Given the description of an element on the screen output the (x, y) to click on. 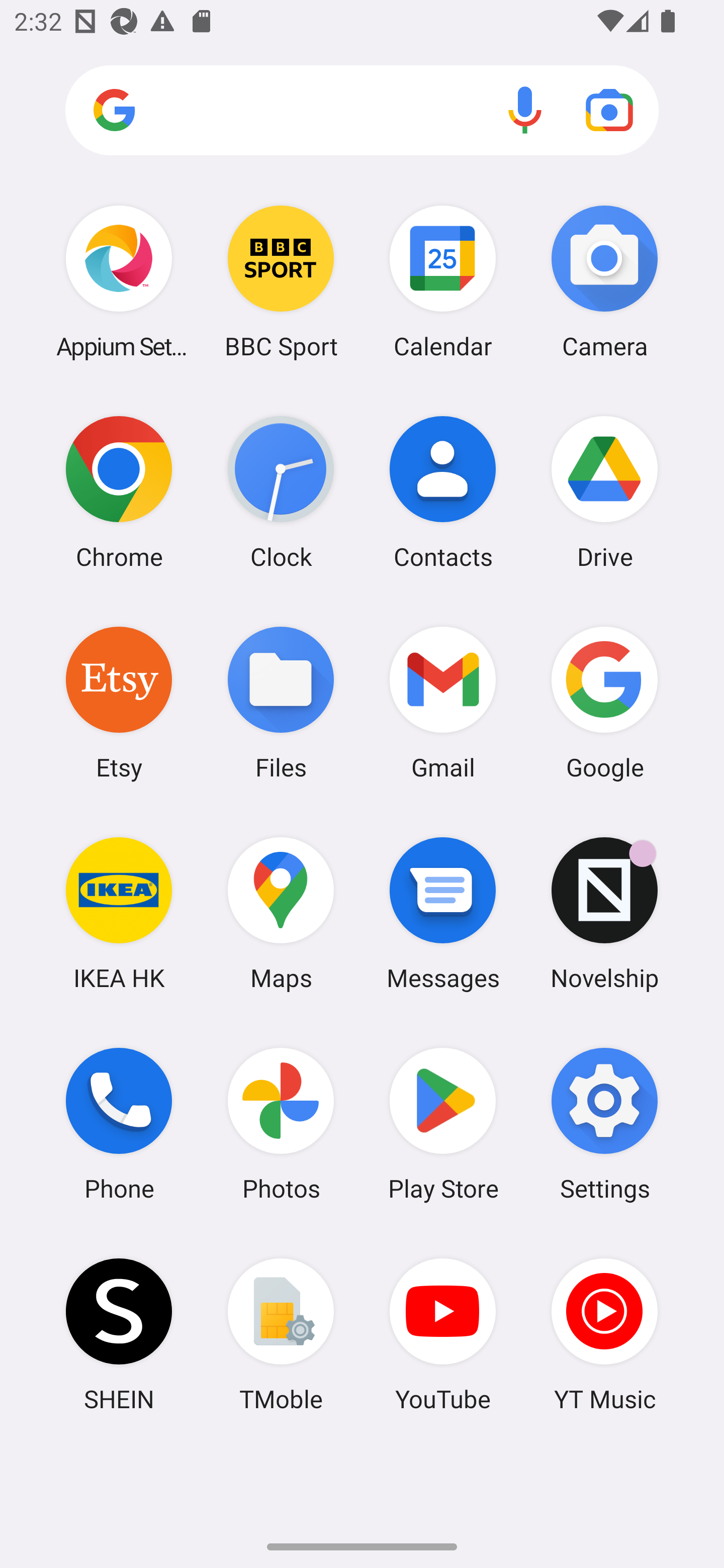
Search apps, web and more (361, 110)
Voice search (524, 109)
Google Lens (608, 109)
Appium Settings (118, 281)
BBC Sport (280, 281)
Calendar (443, 281)
Camera (604, 281)
Chrome (118, 492)
Clock (280, 492)
Contacts (443, 492)
Drive (604, 492)
Etsy (118, 702)
Files (280, 702)
Gmail (443, 702)
Google (604, 702)
IKEA HK (118, 913)
Maps (280, 913)
Messages (443, 913)
Novelship Novelship has 10 notifications (604, 913)
Phone (118, 1124)
Photos (280, 1124)
Play Store (443, 1124)
Settings (604, 1124)
SHEIN (118, 1334)
TMoble (280, 1334)
YouTube (443, 1334)
YT Music (604, 1334)
